Given the description of an element on the screen output the (x, y) to click on. 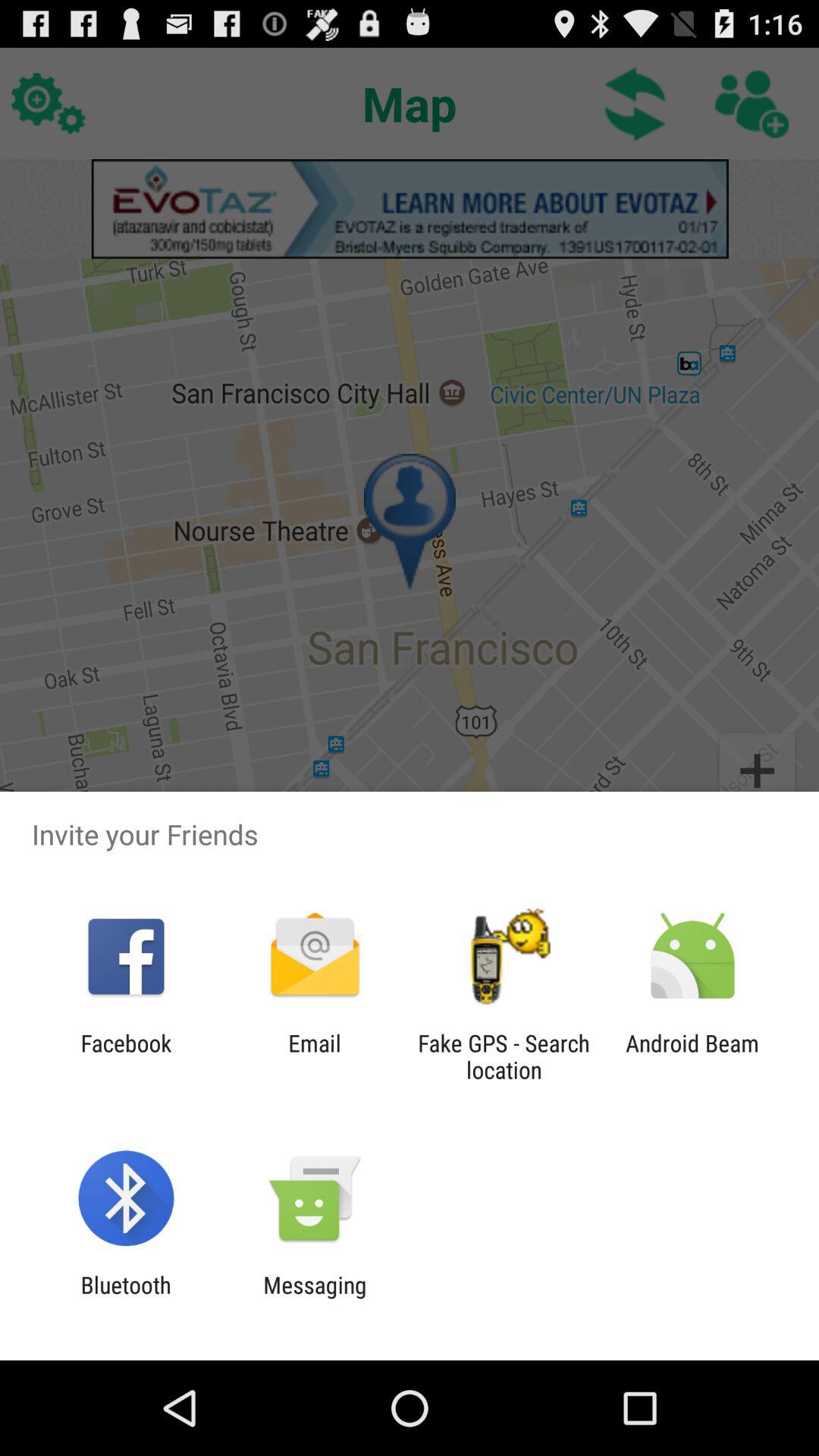
click icon next to android beam app (503, 1056)
